Given the description of an element on the screen output the (x, y) to click on. 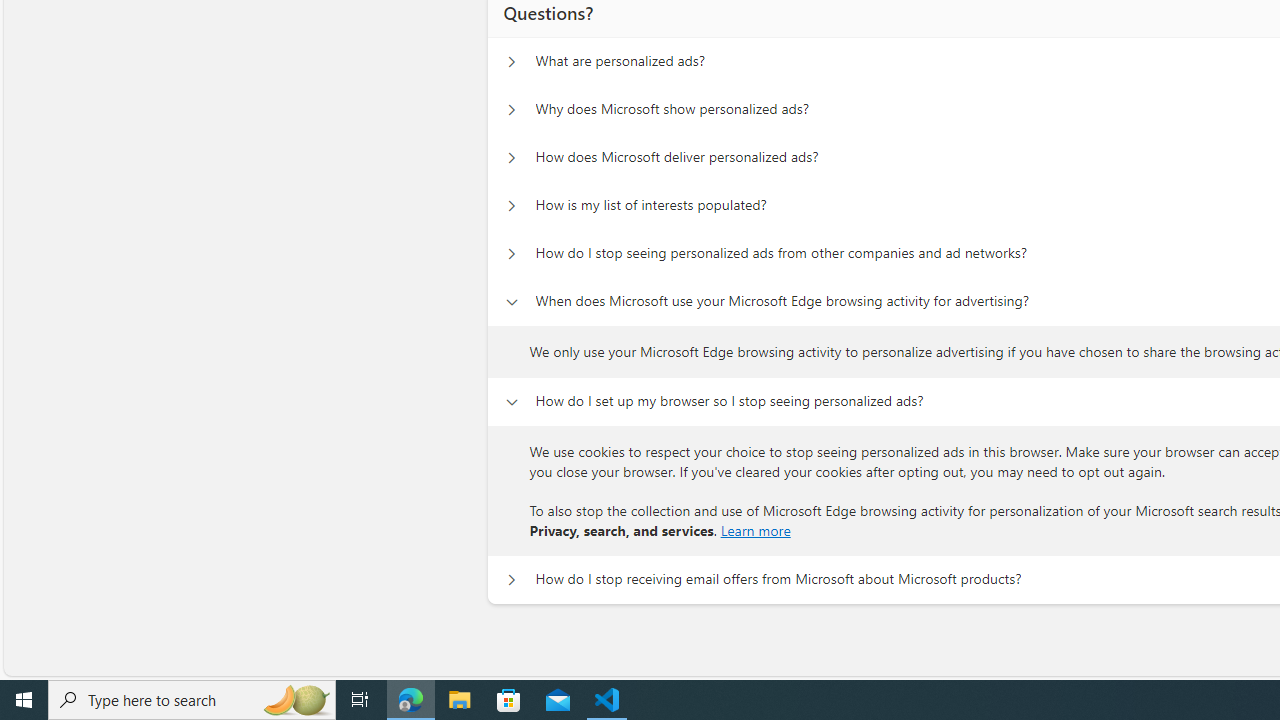
Questions? How does Microsoft deliver personalized ads? (511, 157)
Questions? Why does Microsoft show personalized ads? (511, 110)
Questions? What are personalized ads? (511, 62)
Questions? How is my list of interests populated? (511, 206)
